Given the description of an element on the screen output the (x, y) to click on. 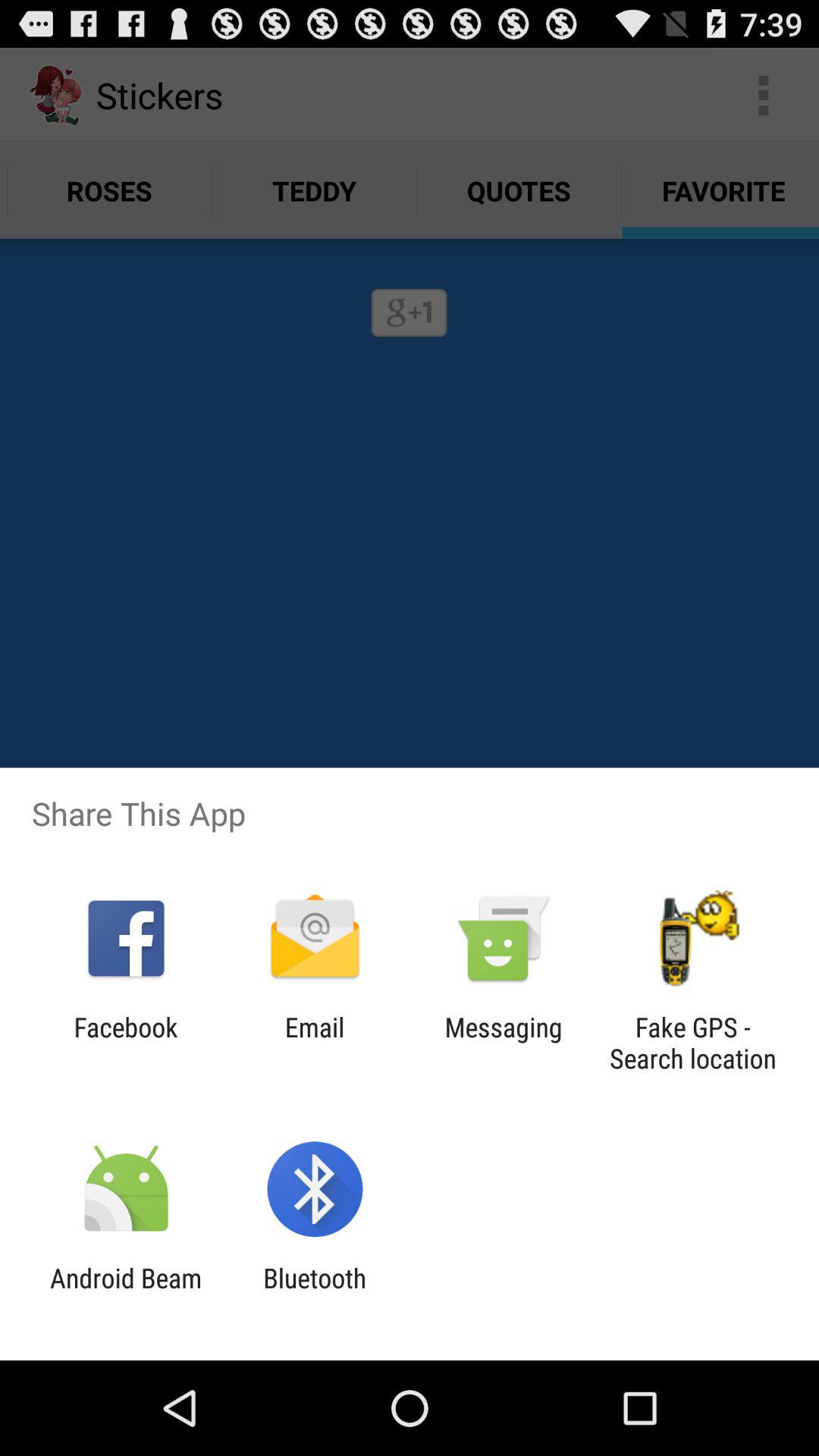
turn off the app to the right of the email item (503, 1042)
